Given the description of an element on the screen output the (x, y) to click on. 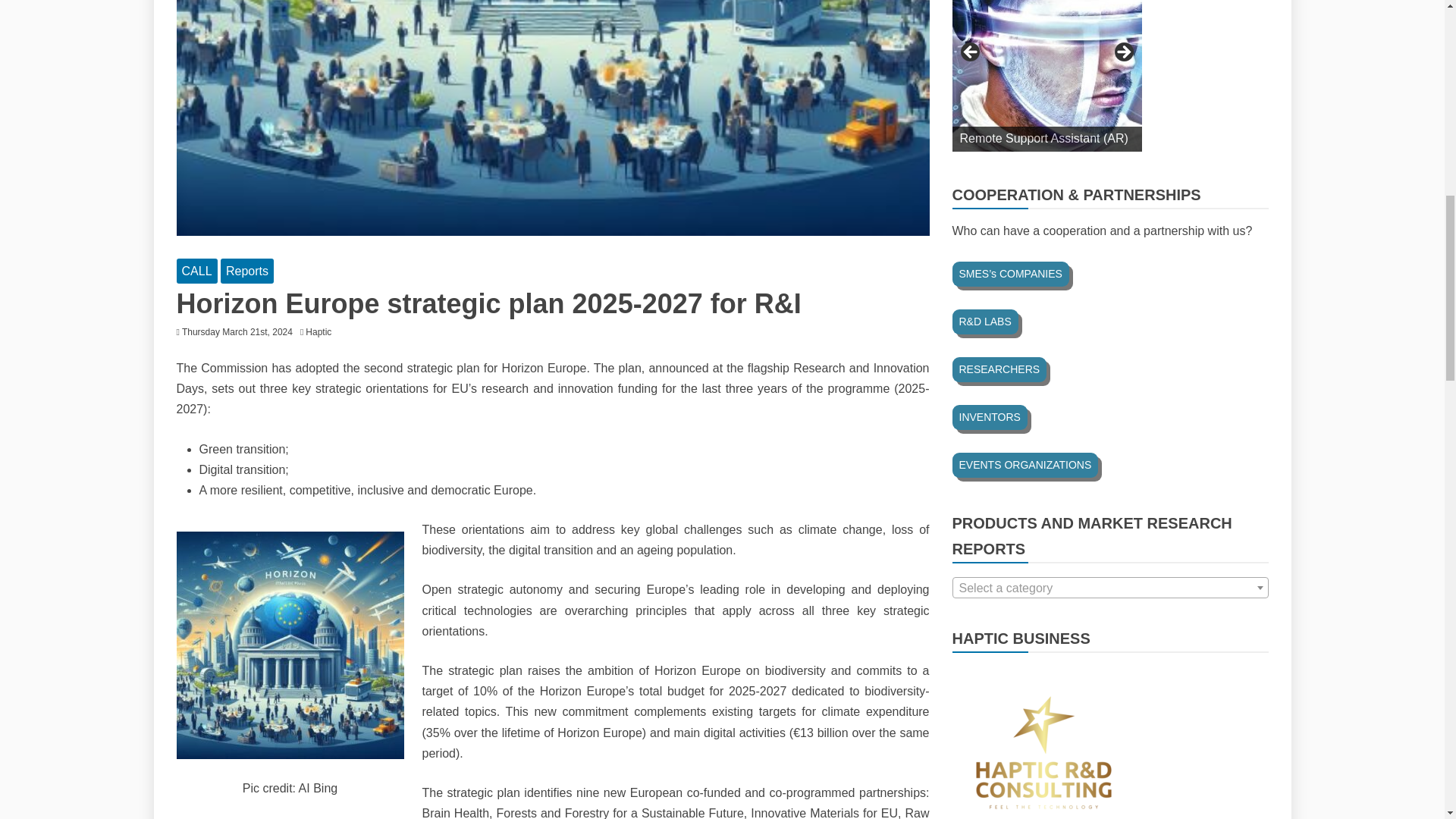
virtualreality (1046, 75)
CALL (196, 270)
Thursday March 21st, 2024 (237, 331)
Reports (247, 270)
Haptic (322, 331)
HAPTIC LOGO 1 (1046, 741)
